Given the description of an element on the screen output the (x, y) to click on. 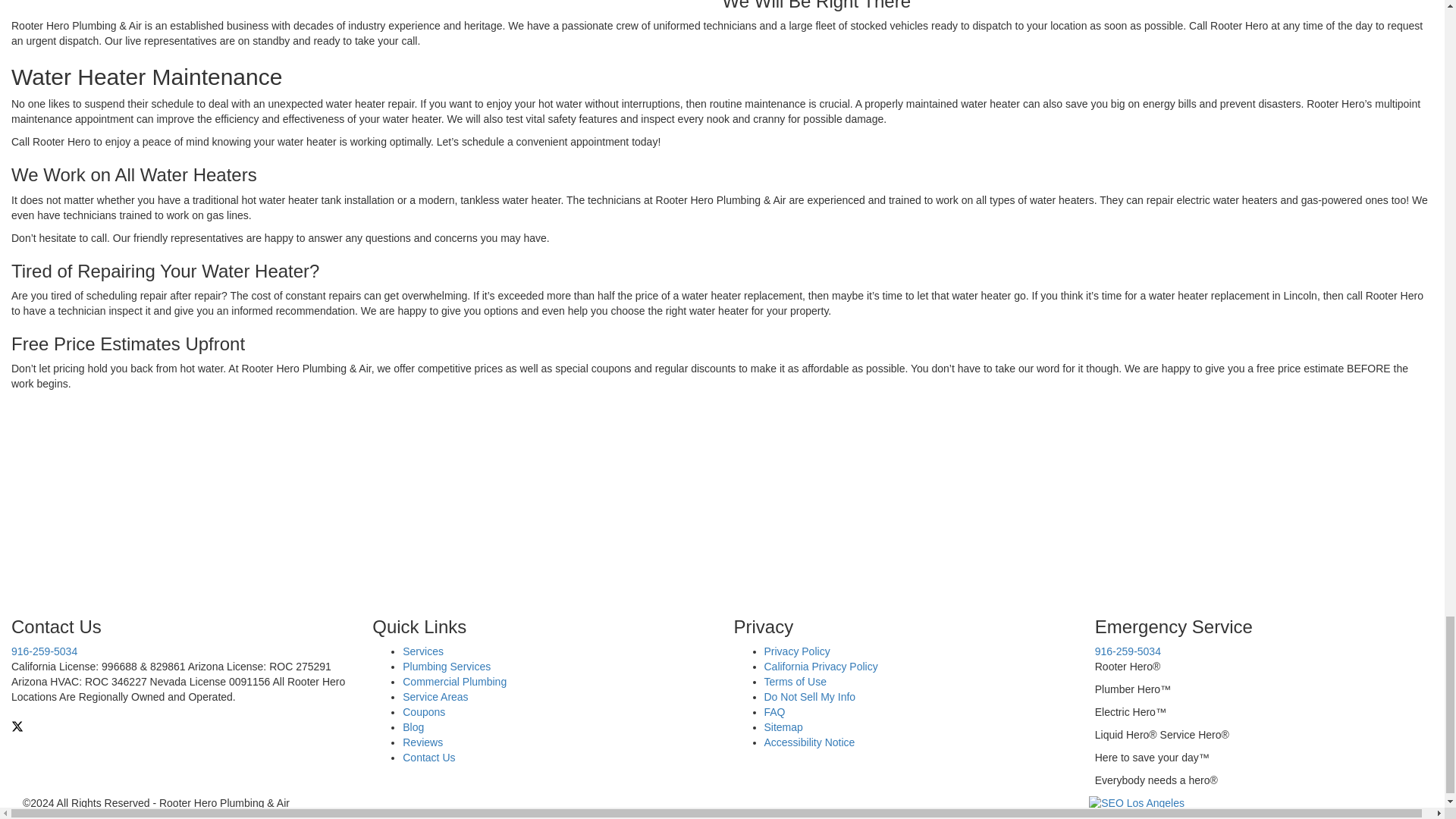
SEO Los Angeles (1137, 802)
